Given the description of an element on the screen output the (x, y) to click on. 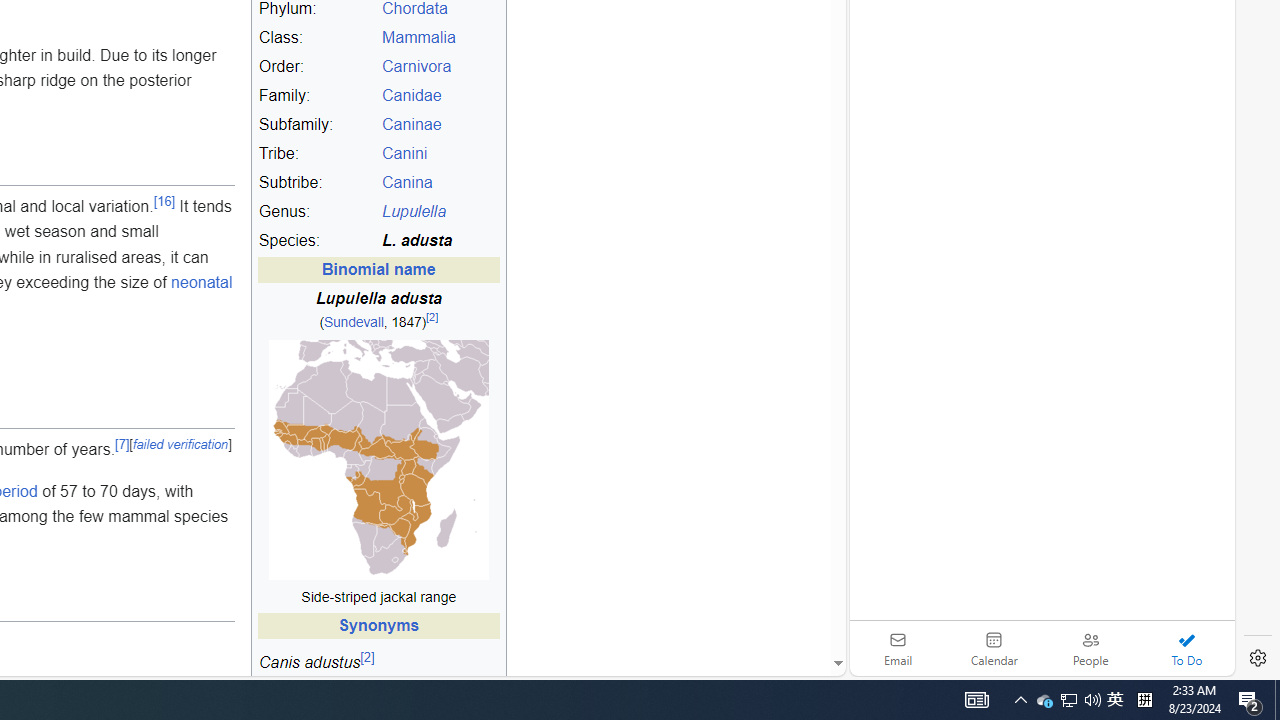
Class: mw-file-element (377, 460)
Species: (317, 241)
Synonyms (378, 626)
Family: (317, 96)
Order: (317, 67)
Sundevall (353, 323)
Canis adustus[2] (378, 667)
neonatal (201, 283)
To Do (1186, 648)
Binomial name (378, 269)
People (1090, 648)
Carnivora (416, 67)
Canina (406, 183)
Canina (440, 183)
Mammalia (440, 38)
